Given the description of an element on the screen output the (x, y) to click on. 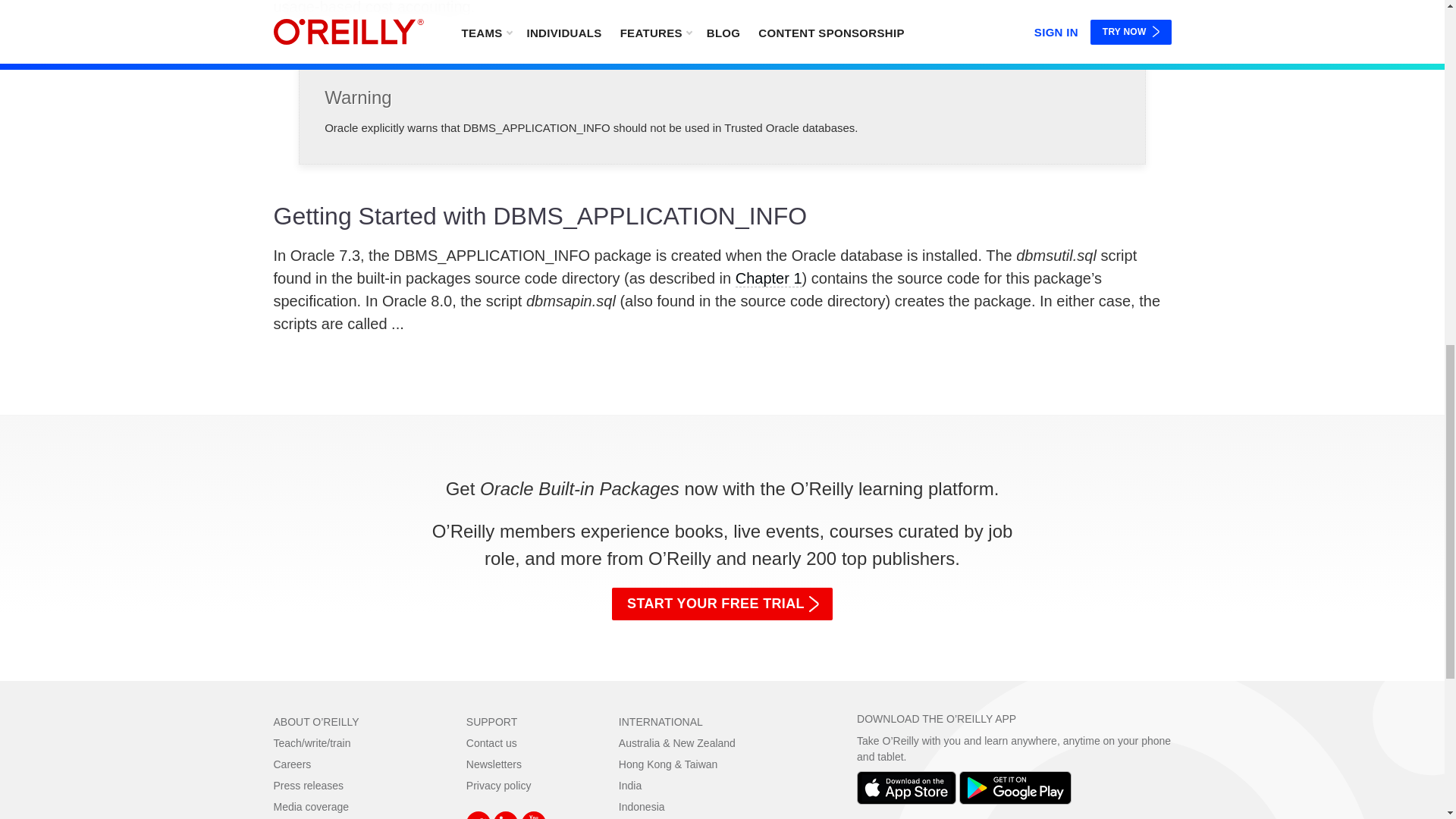
Press releases (308, 785)
Media coverage (311, 806)
Chapter 1 (768, 278)
SUPPORT (490, 721)
Careers (292, 764)
START YOUR FREE TRIAL (721, 604)
Warning (721, 103)
Contact us (490, 743)
